Given the description of an element on the screen output the (x, y) to click on. 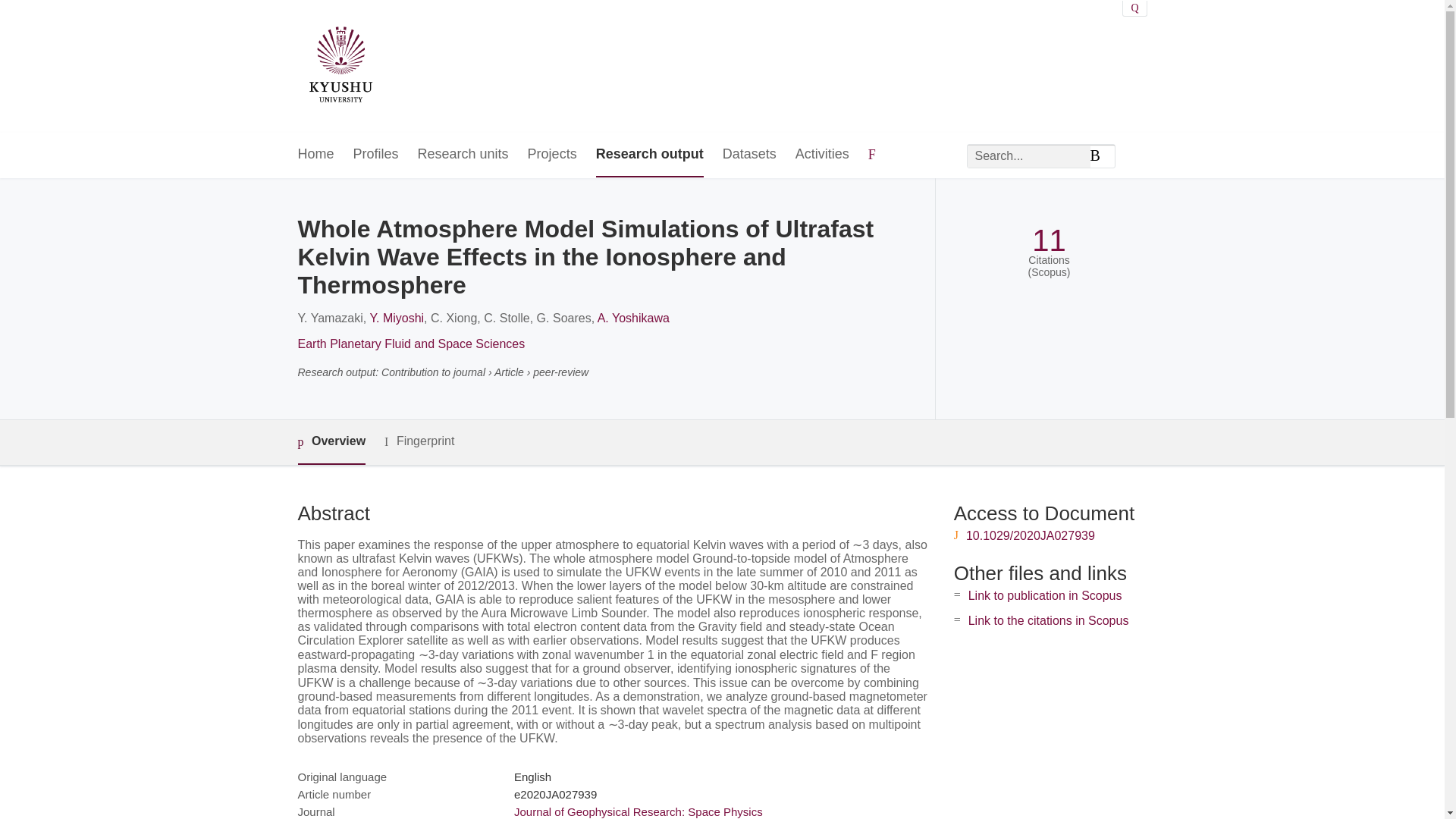
Link to publication in Scopus (1045, 594)
Earth Planetary Fluid and Space Sciences (410, 343)
11 (1048, 240)
Link to the citations in Scopus (1048, 620)
Projects (551, 154)
Research units (462, 154)
A. Yoshikawa (632, 318)
Datasets (749, 154)
Research output (649, 154)
Journal of Geophysical Research: Space Physics (637, 811)
Y. Miyoshi (396, 318)
Activities (821, 154)
Fingerprint (419, 441)
Overview (331, 442)
